Given the description of an element on the screen output the (x, y) to click on. 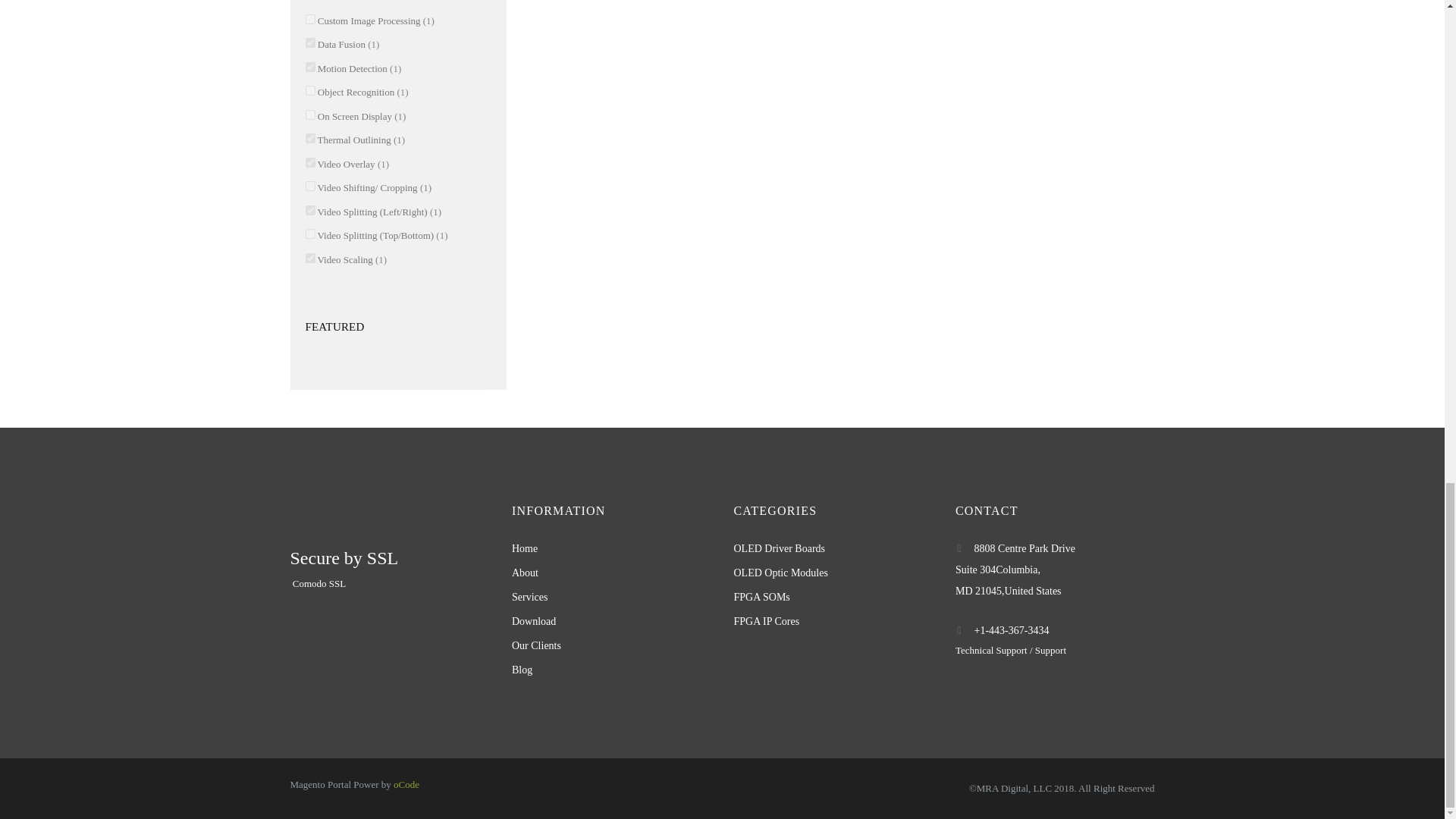
on (309, 19)
on (309, 90)
on (309, 42)
on (309, 67)
on (309, 114)
